Given the description of an element on the screen output the (x, y) to click on. 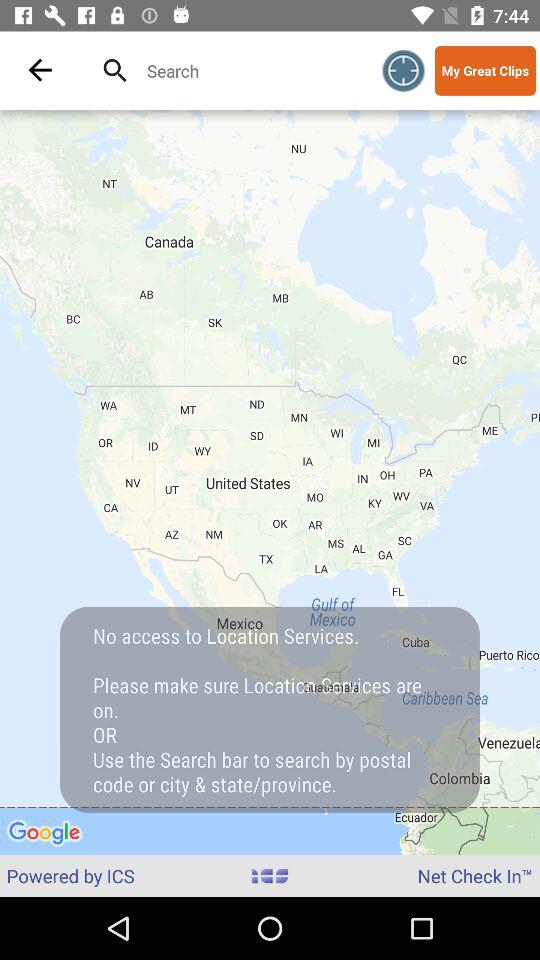
search location (248, 70)
